Given the description of an element on the screen output the (x, y) to click on. 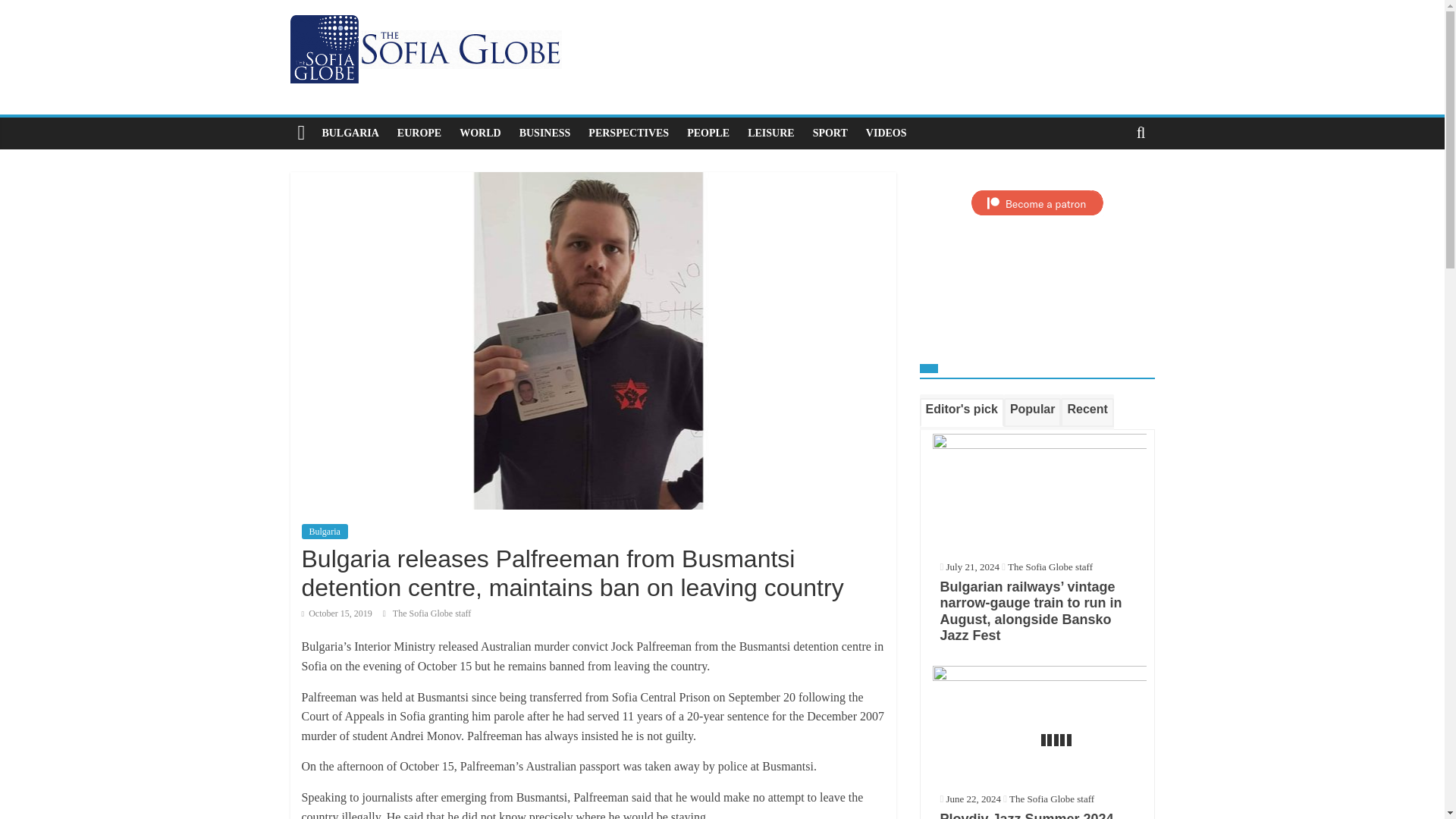
SPORT (830, 133)
July 21, 2024 (969, 566)
WORLD (479, 133)
The Sofia Globe staff (431, 613)
PERSPECTIVES (628, 133)
PEOPLE (708, 133)
BUSINESS (545, 133)
LEISURE (770, 133)
The Sofia Globe staff (431, 613)
The Sofia Globe staff (1050, 566)
VIDEOS (886, 133)
Bulgaria (324, 531)
EUROPE (418, 133)
BULGARIA (350, 133)
October 15, 2019 (336, 613)
